Given the description of an element on the screen output the (x, y) to click on. 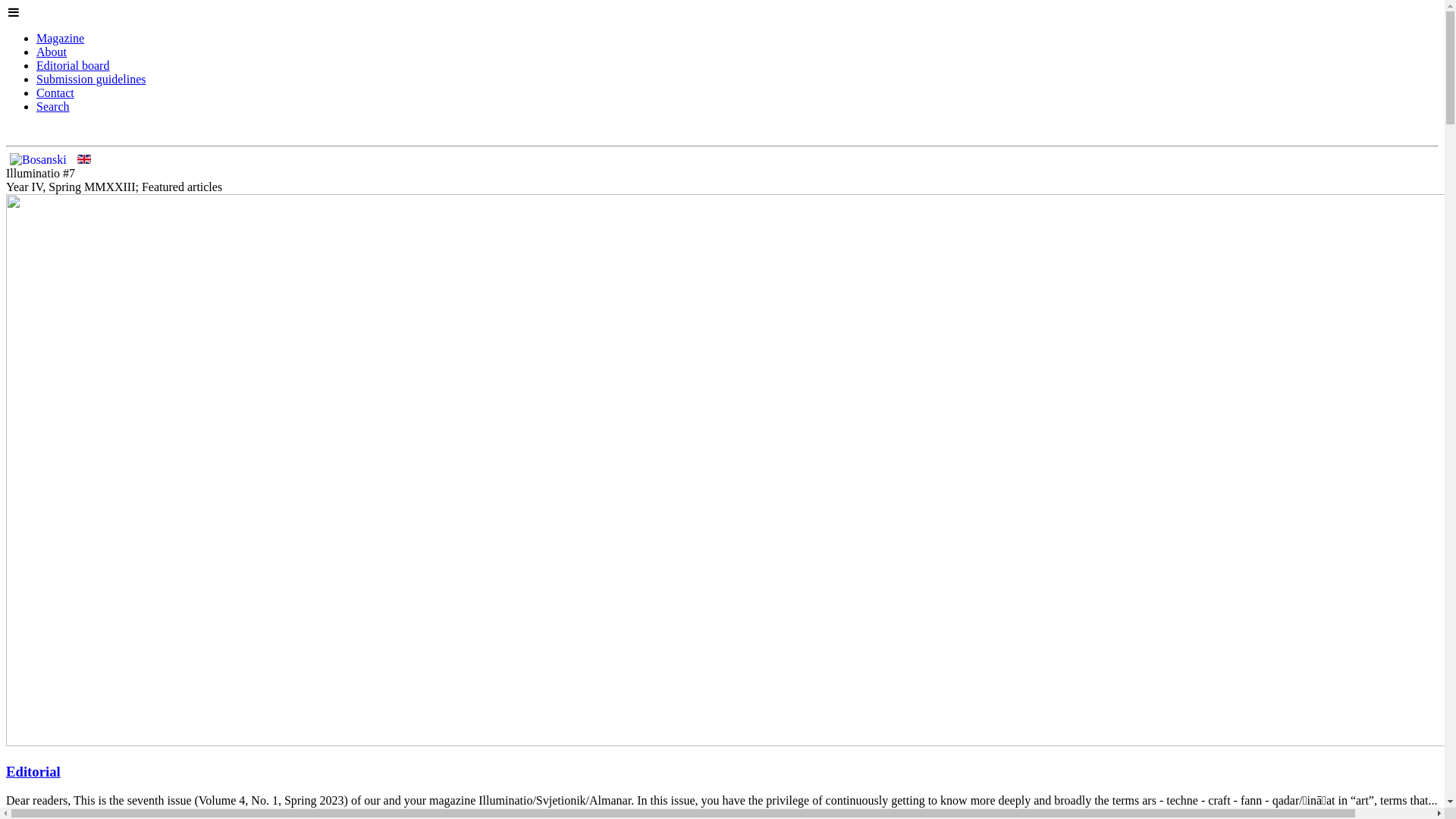
English Element type: hover (84, 158)
Search Element type: text (52, 106)
Submission guidelines Element type: text (90, 78)
Magazine Element type: text (60, 37)
Bosanski Element type: hover (37, 159)
Contact Element type: text (55, 92)
Editorial board Element type: text (72, 65)
About Element type: text (51, 51)
Editorial Element type: text (33, 771)
